Given the description of an element on the screen output the (x, y) to click on. 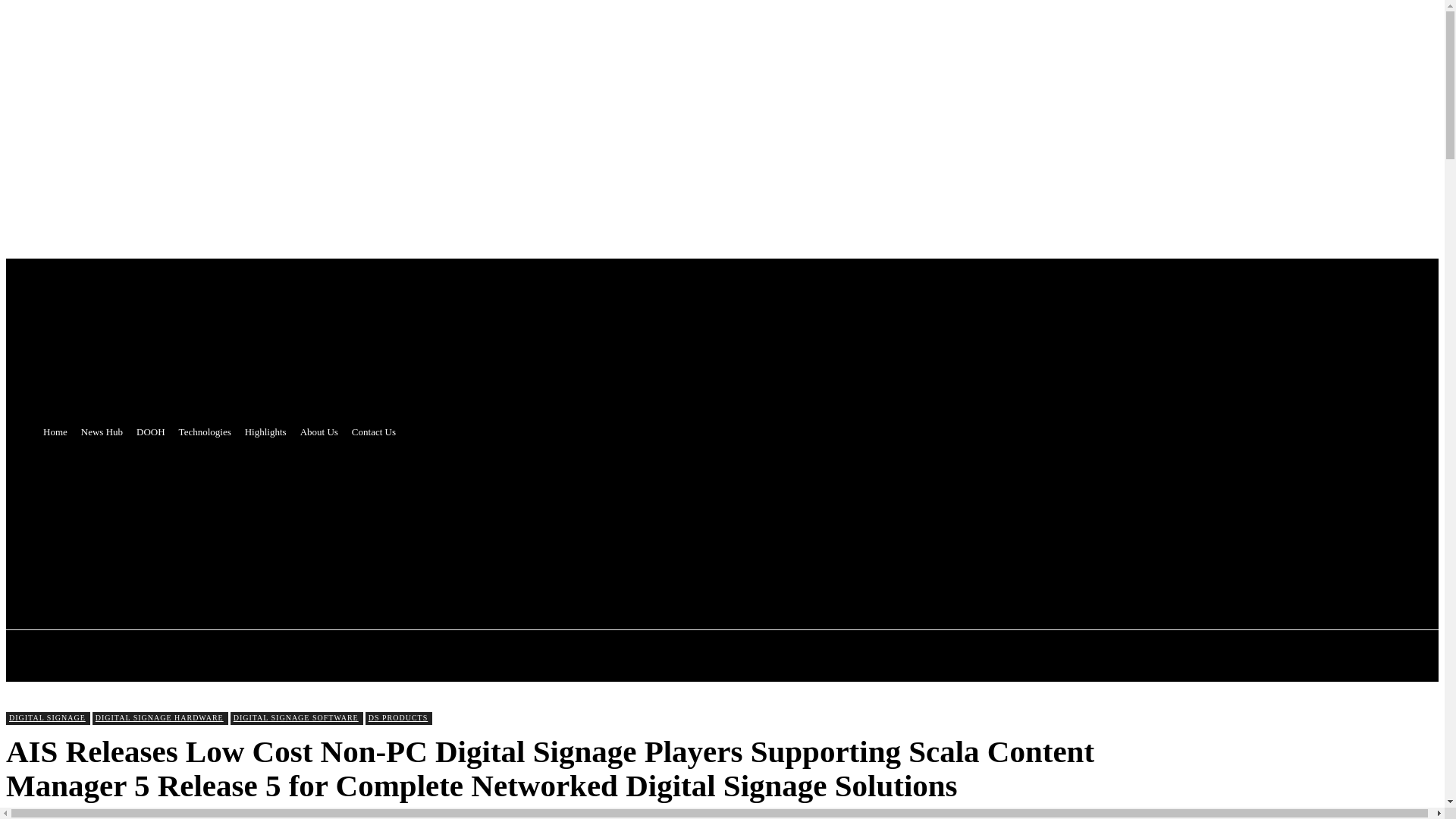
Home (55, 432)
Highlights (266, 432)
Login (24, 325)
Google News (490, 525)
Instagram (435, 525)
News Hub (101, 432)
About Us (319, 432)
DOOH (150, 432)
Technologies (204, 432)
Linkedin (462, 525)
Forgot your password? Get help (83, 339)
Facebook (378, 525)
Send My Password (54, 398)
Contact Us (374, 432)
Twitter (349, 525)
